Given the description of an element on the screen output the (x, y) to click on. 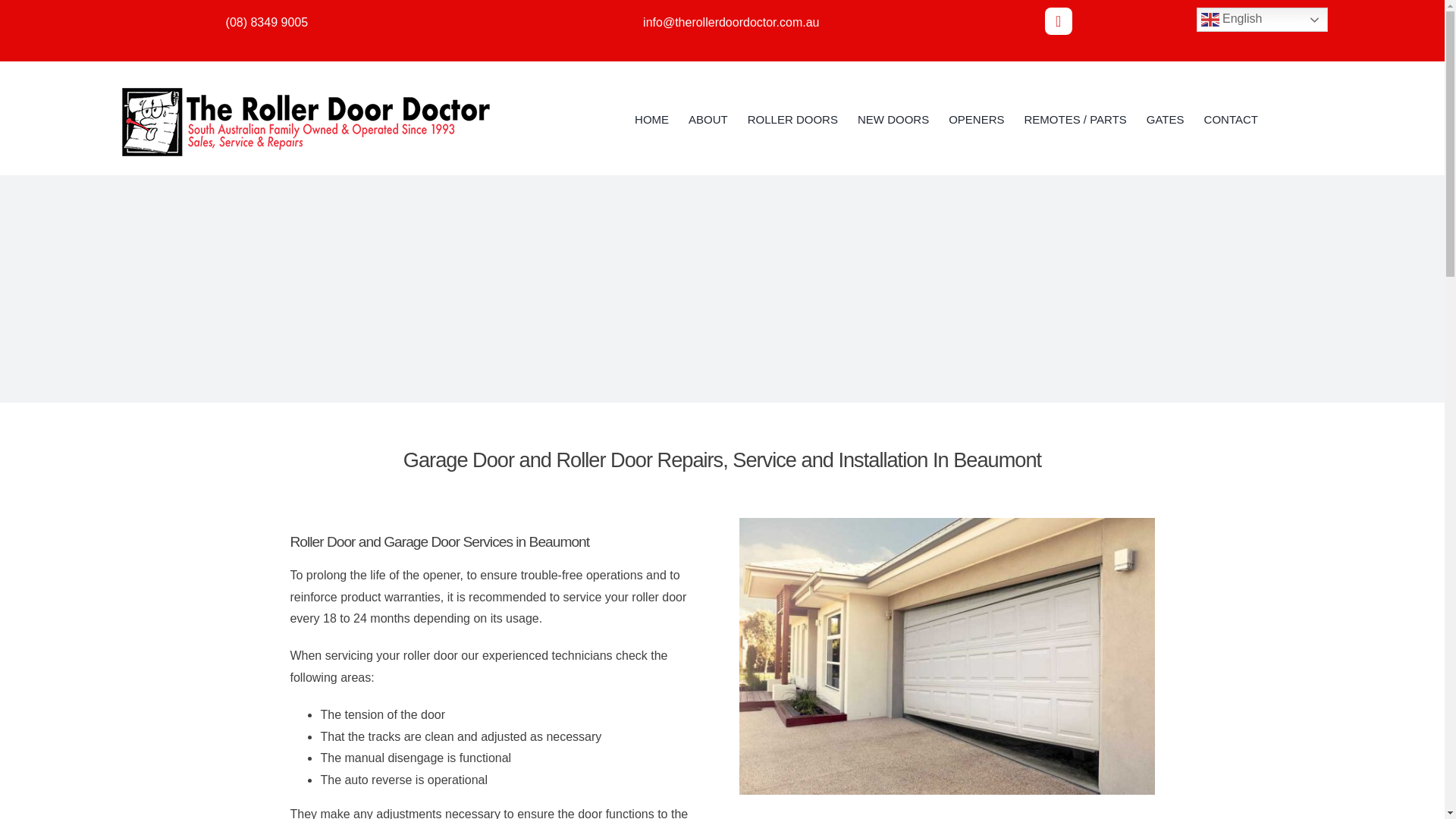
ABOUT (708, 118)
ROLLER DOORS (793, 118)
NEW DOORS (892, 118)
English (1261, 19)
HOME (651, 118)
OPENERS (976, 118)
